Given the description of an element on the screen output the (x, y) to click on. 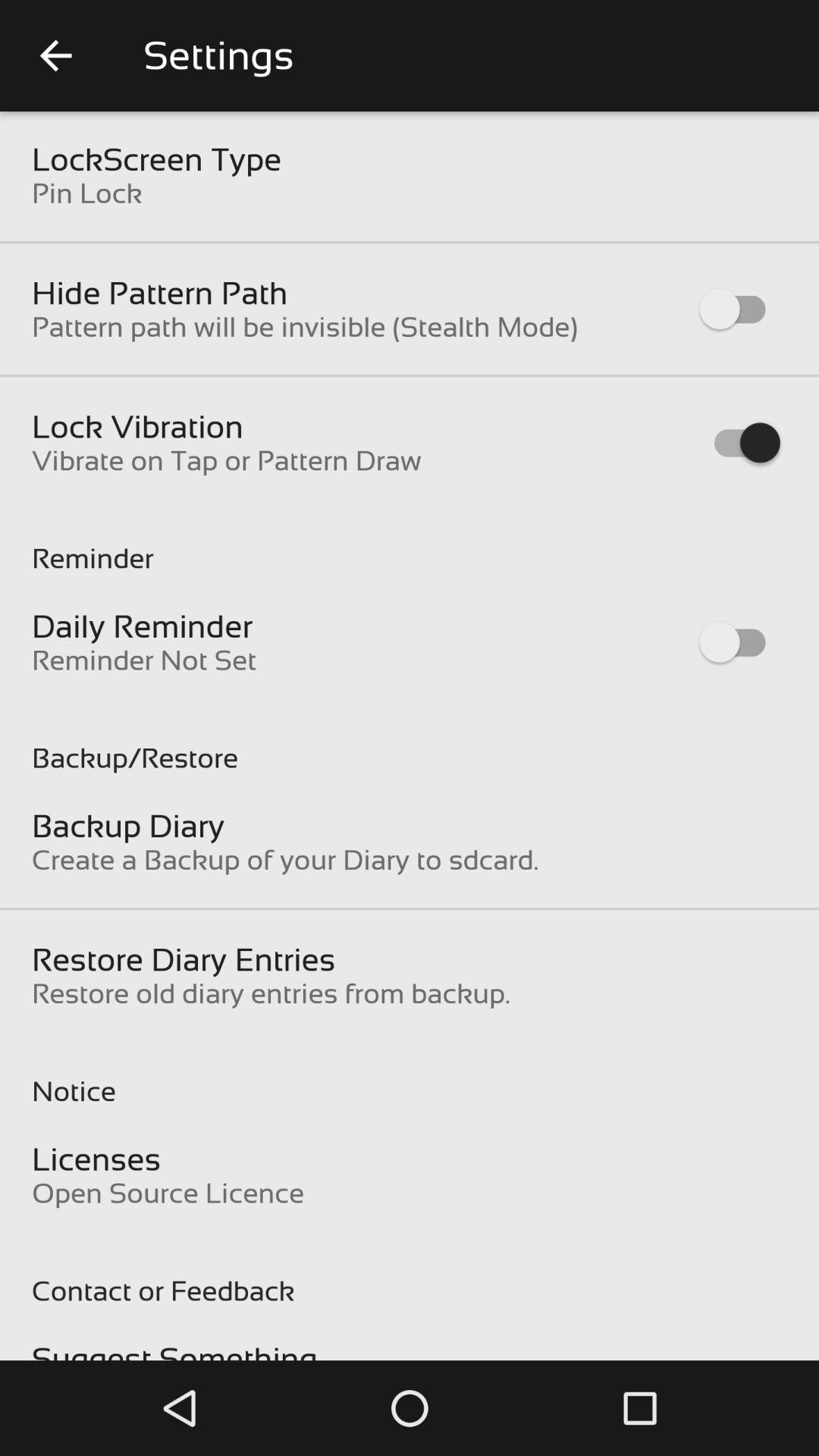
open the icon above the vibrate on tap icon (137, 426)
